Given the description of an element on the screen output the (x, y) to click on. 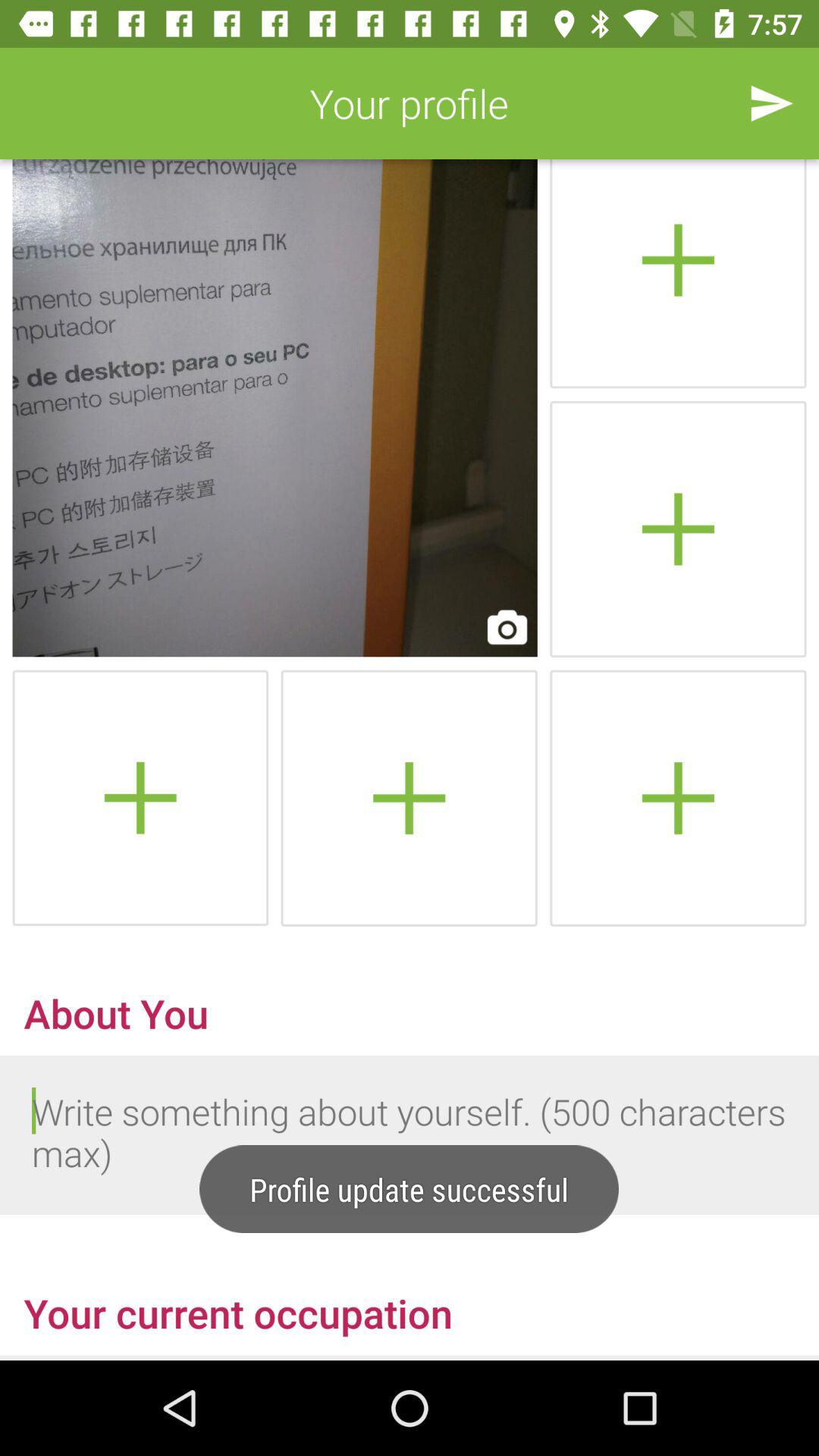
add a photo (140, 797)
